Given the description of an element on the screen output the (x, y) to click on. 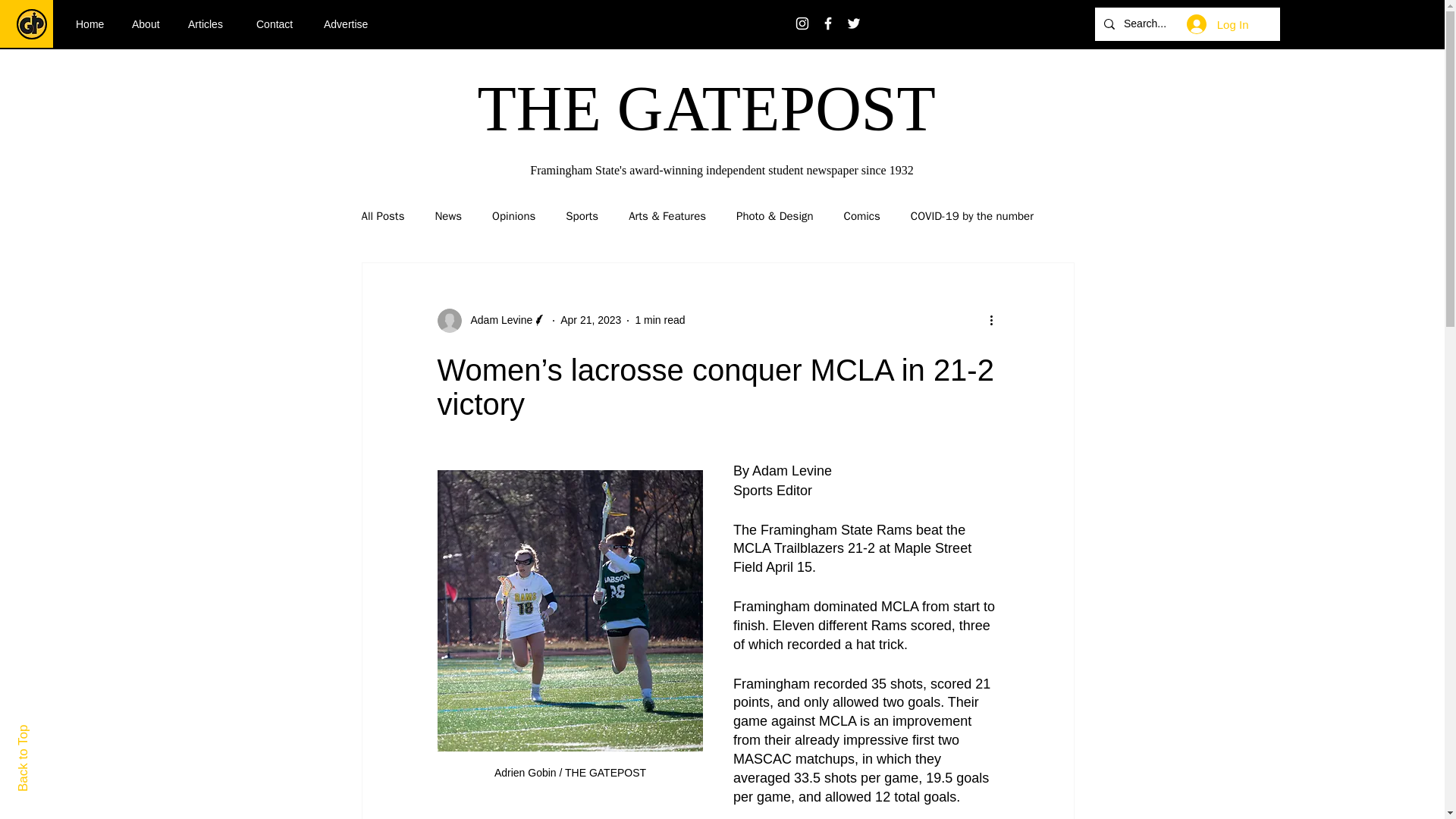
Opinions (513, 216)
Adam Levine (491, 320)
Home (92, 24)
Advertise (351, 24)
Contact (278, 24)
Log In (1217, 23)
News (447, 216)
1 min read (659, 319)
Adam Levine (496, 320)
COVID-19 by the number (972, 216)
About (148, 24)
Articles (210, 24)
All Posts (382, 216)
Comics (862, 216)
Sports (582, 216)
